Given the description of an element on the screen output the (x, y) to click on. 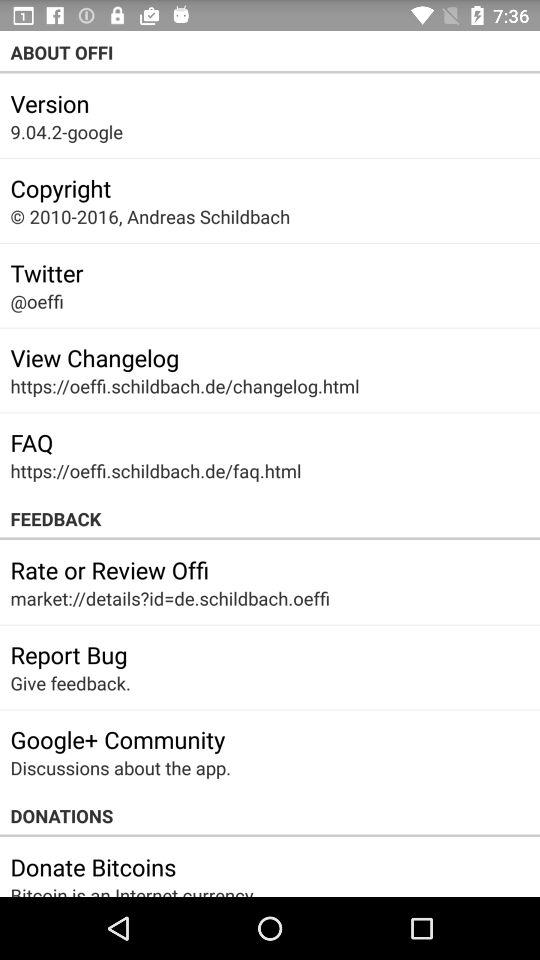
jump to the google+ community icon (117, 739)
